Given the description of an element on the screen output the (x, y) to click on. 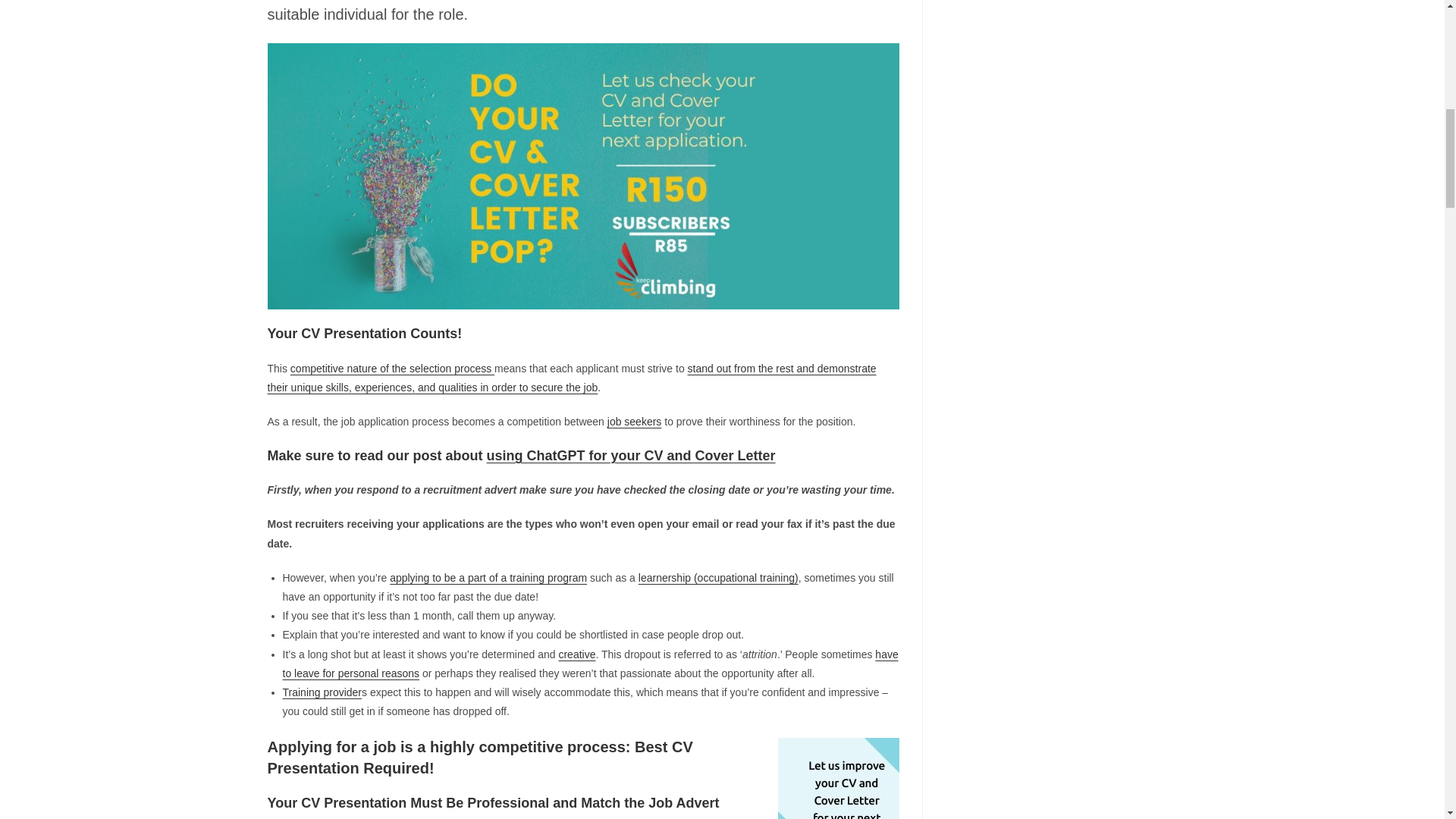
Best CV Presentation: Compete for a Job to Win Now 3 (838, 778)
How To Brilliantly Use ChatGPT For Job Applications (631, 455)
